Given the description of an element on the screen output the (x, y) to click on. 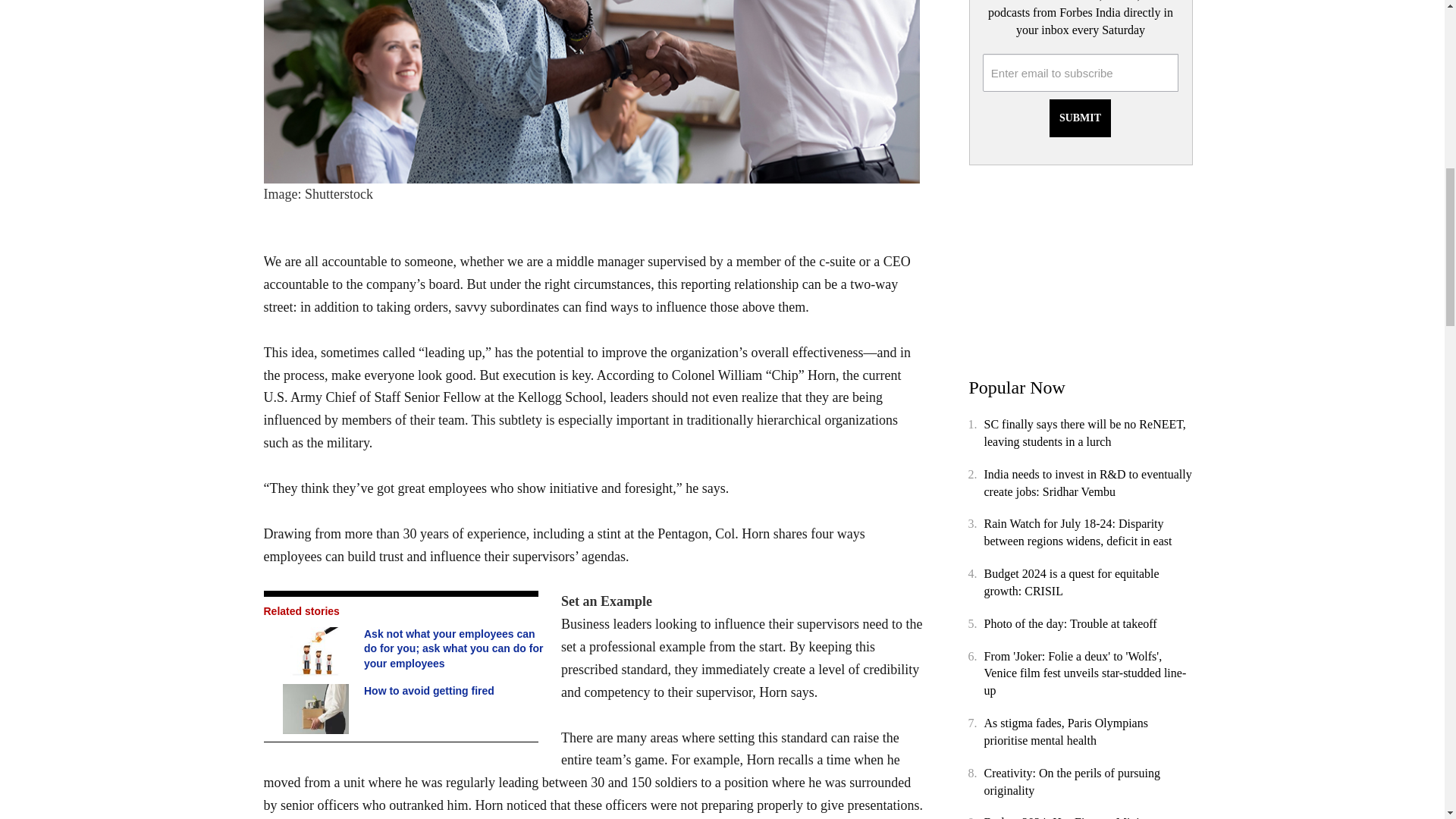
Four ways to influence your bosses without alienating them (593, 91)
How to avoid getting fired (317, 708)
